Given the description of an element on the screen output the (x, y) to click on. 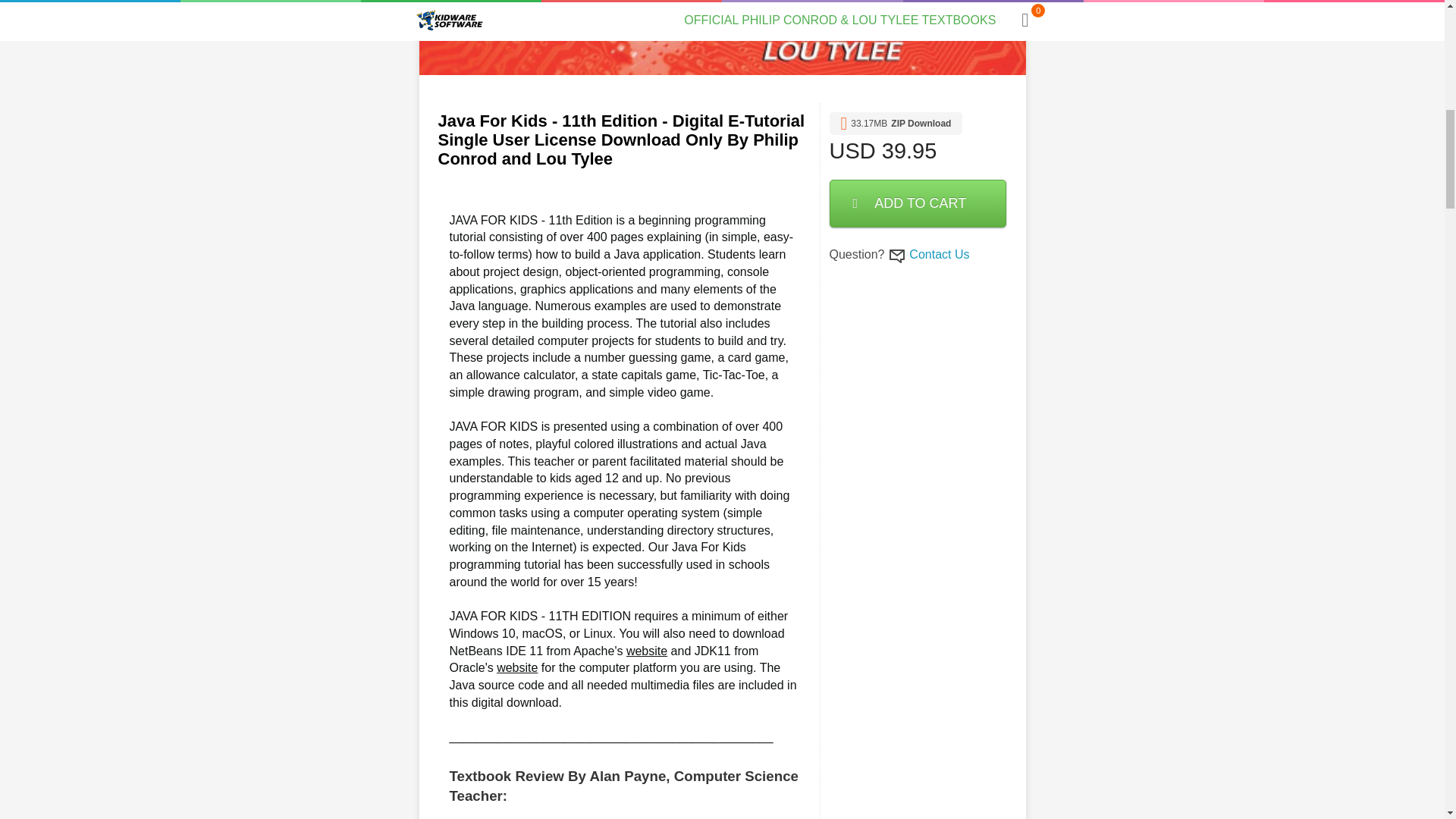
website (516, 667)
Contact Us (938, 254)
website (646, 650)
ADD TO CART (918, 203)
